Given the description of an element on the screen output the (x, y) to click on. 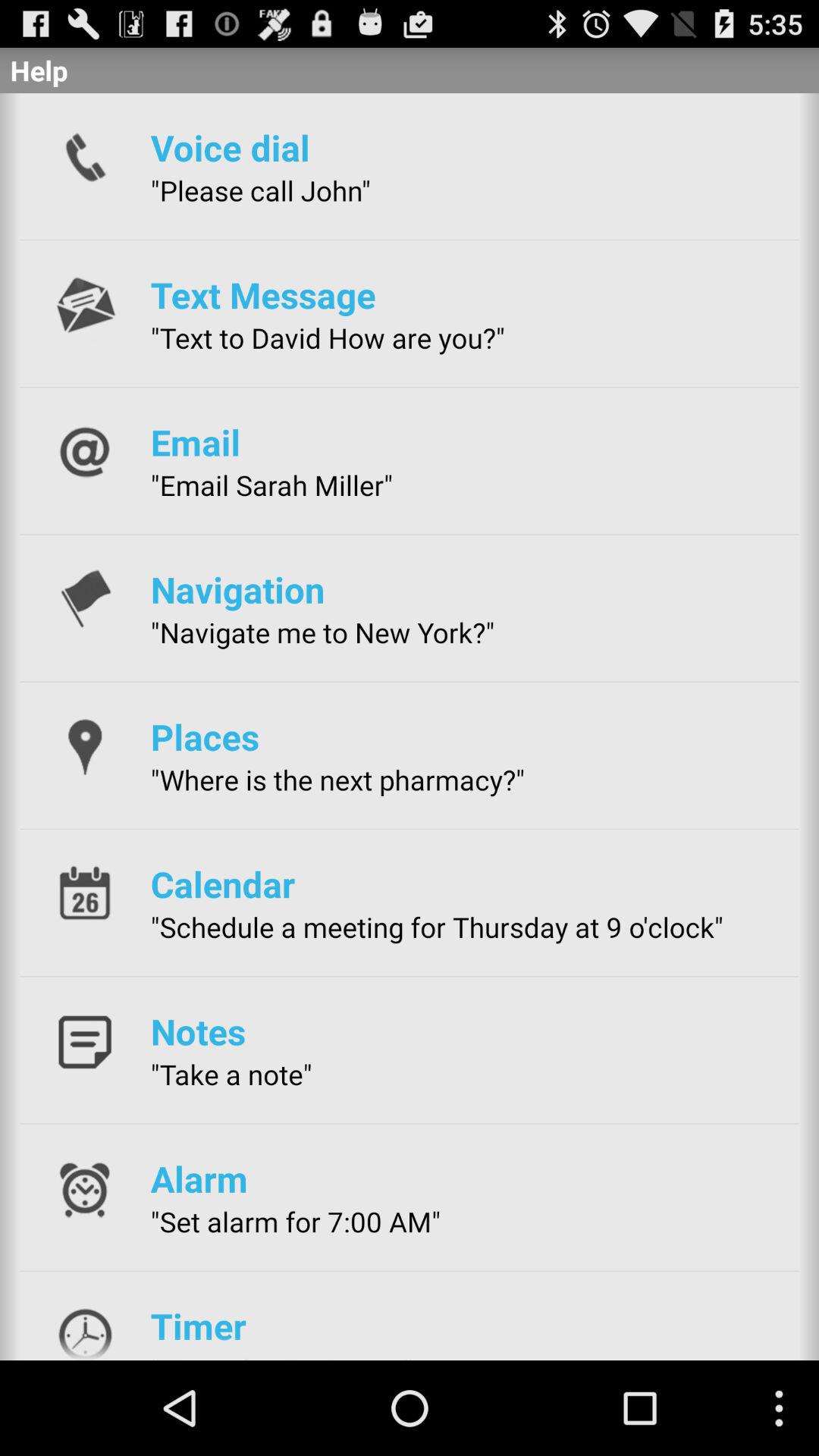
choose icon above the navigate me to app (237, 589)
